Given the description of an element on the screen output the (x, y) to click on. 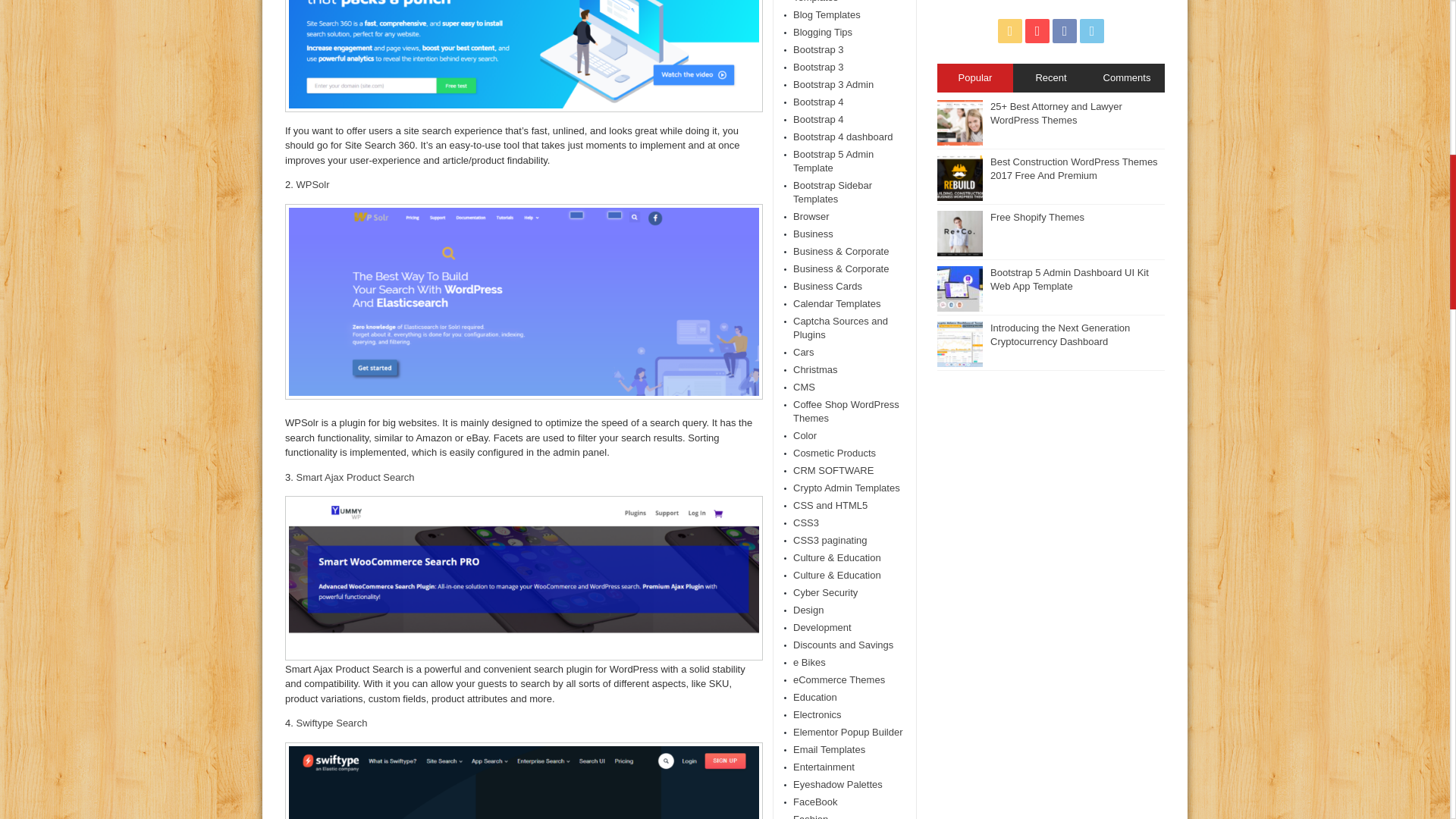
Swiftype Search (330, 722)
WPSolr (312, 184)
Smart Ajax Product Search (354, 477)
